Given the description of an element on the screen output the (x, y) to click on. 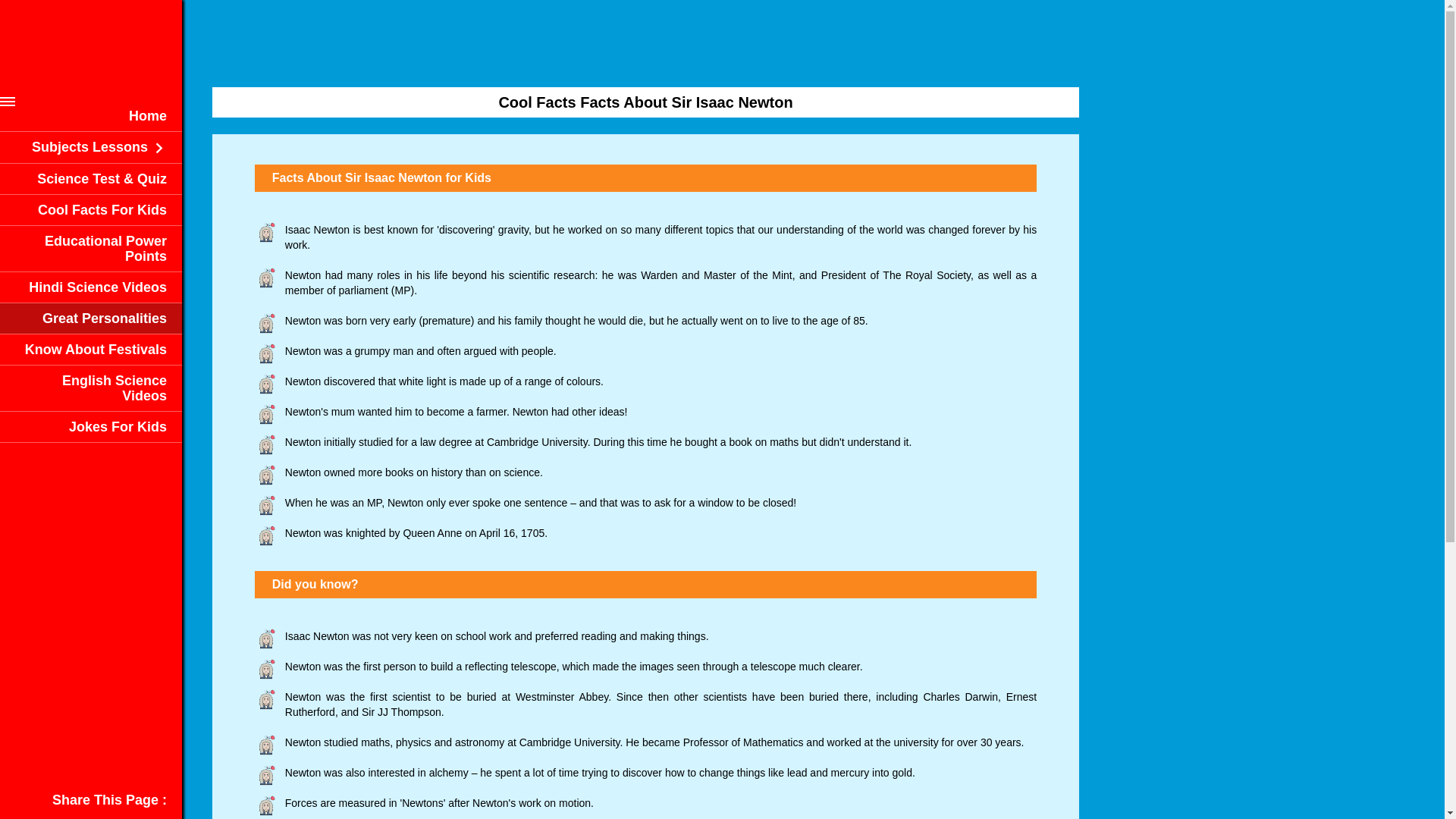
angry (266, 745)
angry (266, 278)
Cool Facts For Kids (102, 209)
English Science Videos (114, 388)
angry (266, 354)
Great Personalities (104, 318)
angry (266, 232)
angry (266, 806)
Hindi Science Videos (98, 287)
Subjects Lessons (99, 146)
